Given the description of an element on the screen output the (x, y) to click on. 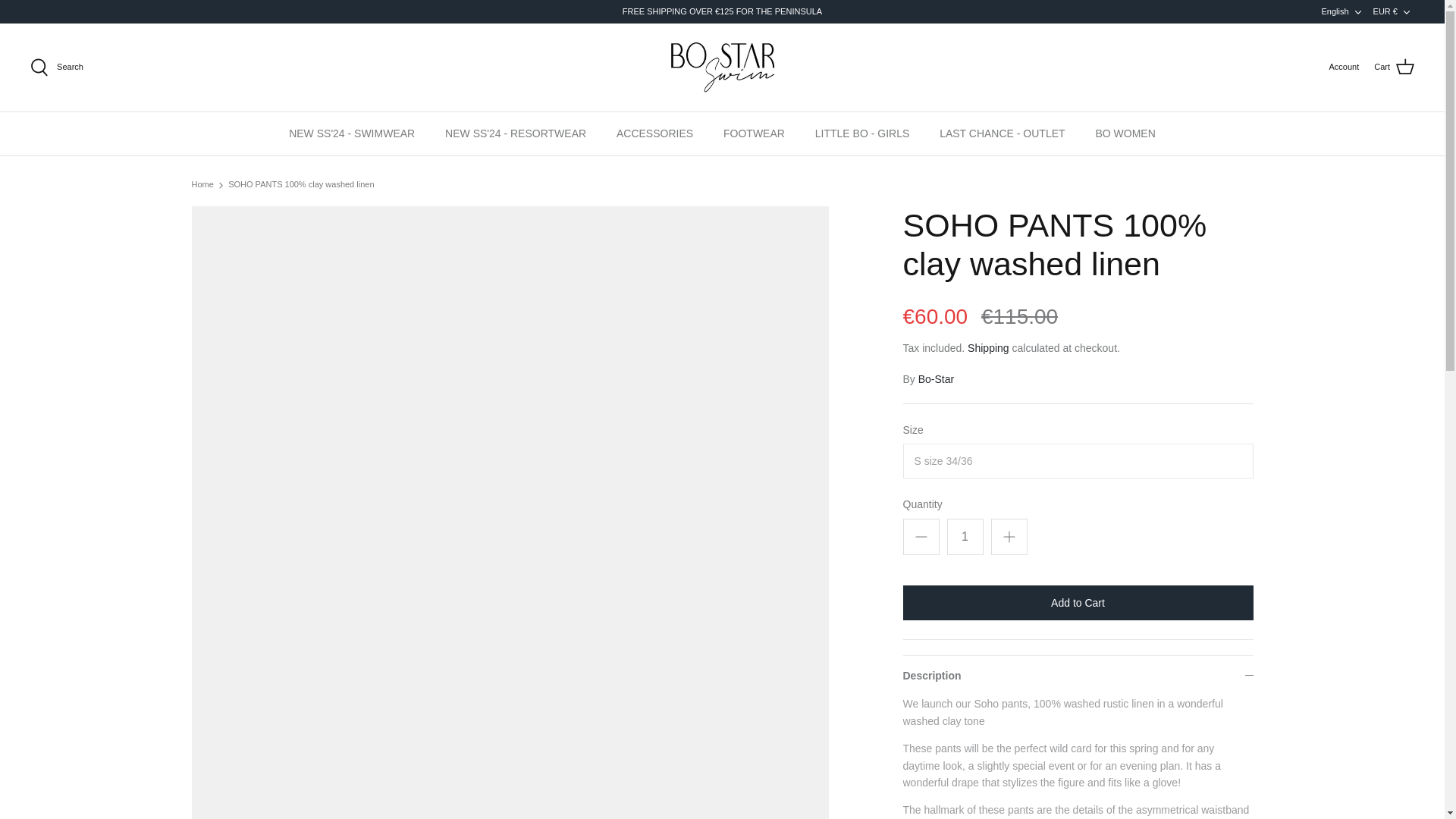
Bo-Star (722, 66)
Minus (920, 536)
Down (1357, 11)
Plus (1007, 536)
Down (1406, 11)
1 (1342, 11)
